Given the description of an element on the screen output the (x, y) to click on. 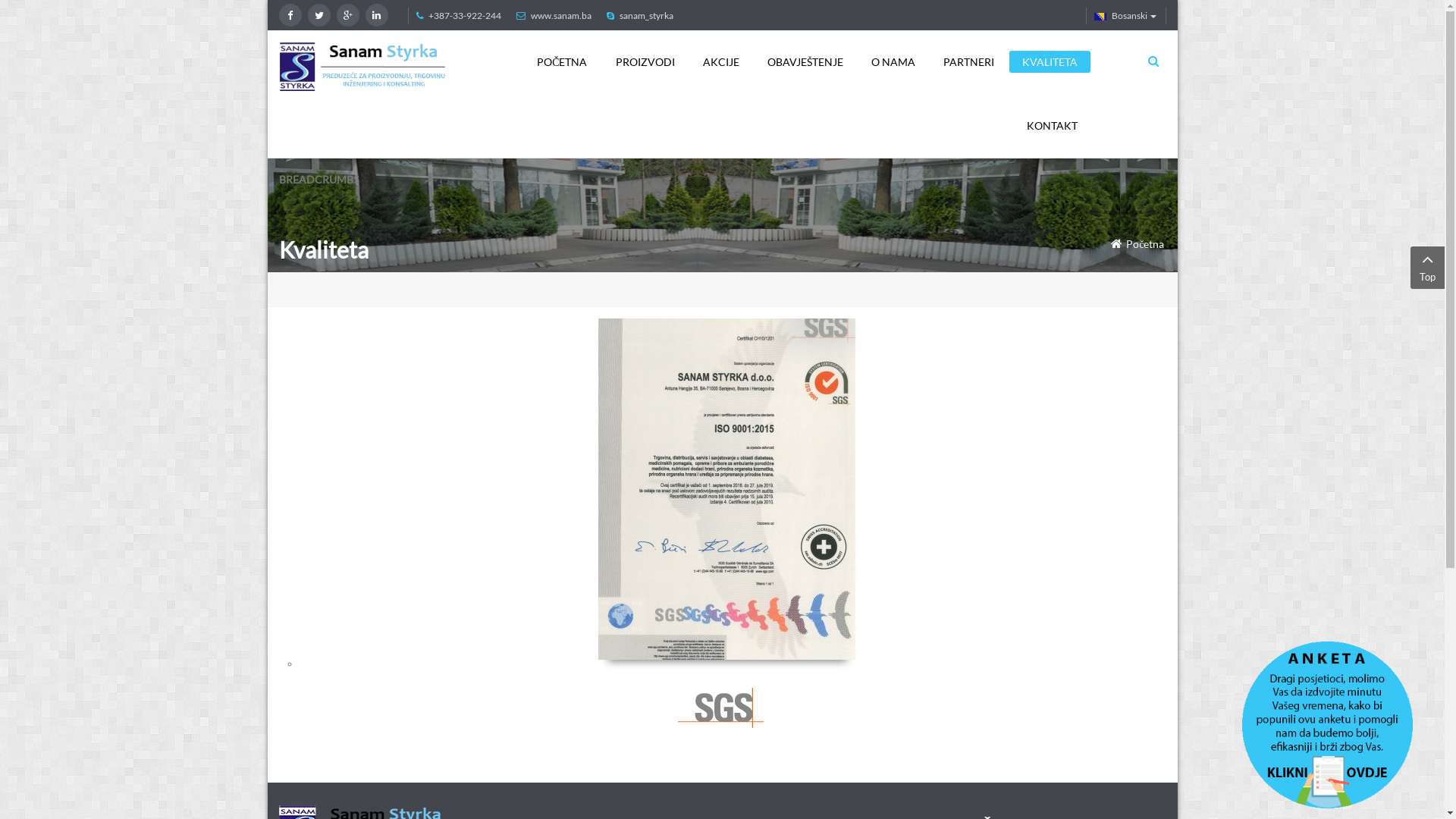
AKCIJE Element type: text (721, 62)
Anketa Element type: hover (1330, 722)
Top Element type: text (1427, 267)
Sanam Styrka d.o.o. Element type: hover (362, 65)
ISO Certifikat Element type: hover (726, 488)
PARTNERI Element type: text (967, 62)
PROIZVODI Element type: text (644, 62)
Bosanski Element type: text (1125, 15)
O NAMA Element type: text (893, 62)
KONTAKT Element type: text (1051, 125)
KVALITETA Element type: text (1048, 62)
Bosanski Element type: hover (1099, 16)
